Given the description of an element on the screen output the (x, y) to click on. 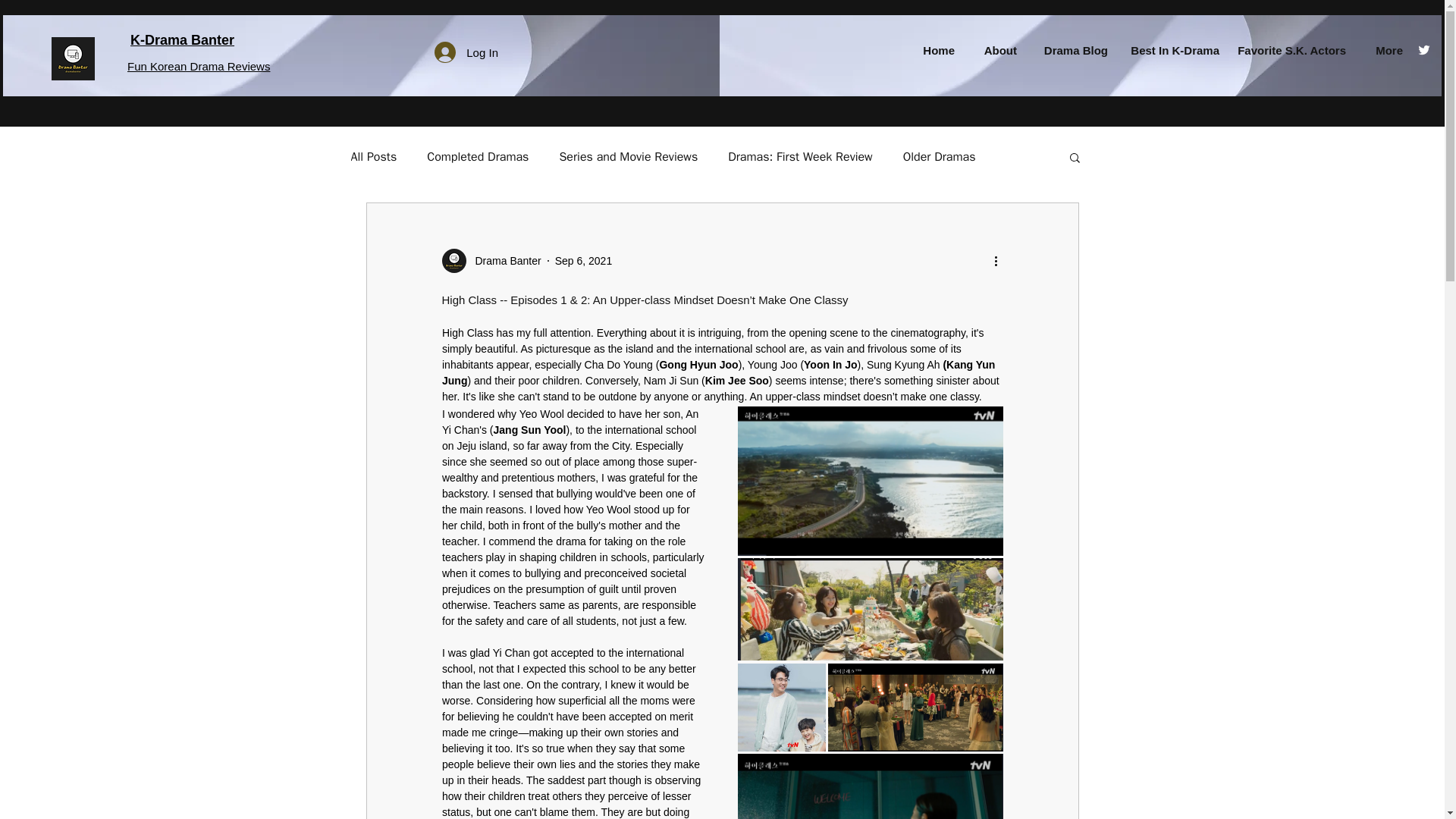
Completed Dramas (477, 157)
Kang Yun Jung (719, 372)
Gong Hyun Joo (698, 364)
Jang Sun Yool (529, 429)
Favorite S.K. Actors (1290, 49)
Best In K-Drama (1171, 49)
About (993, 49)
Drama Blog (1070, 49)
K-Drama Banter (182, 39)
Drama Banter (490, 260)
Series and Movie Reviews (628, 157)
Yoon In Jo (830, 364)
Fun Korean Drama Reviews (198, 65)
Log In (465, 51)
Dramas: First Week Review (800, 157)
